Given the description of an element on the screen output the (x, y) to click on. 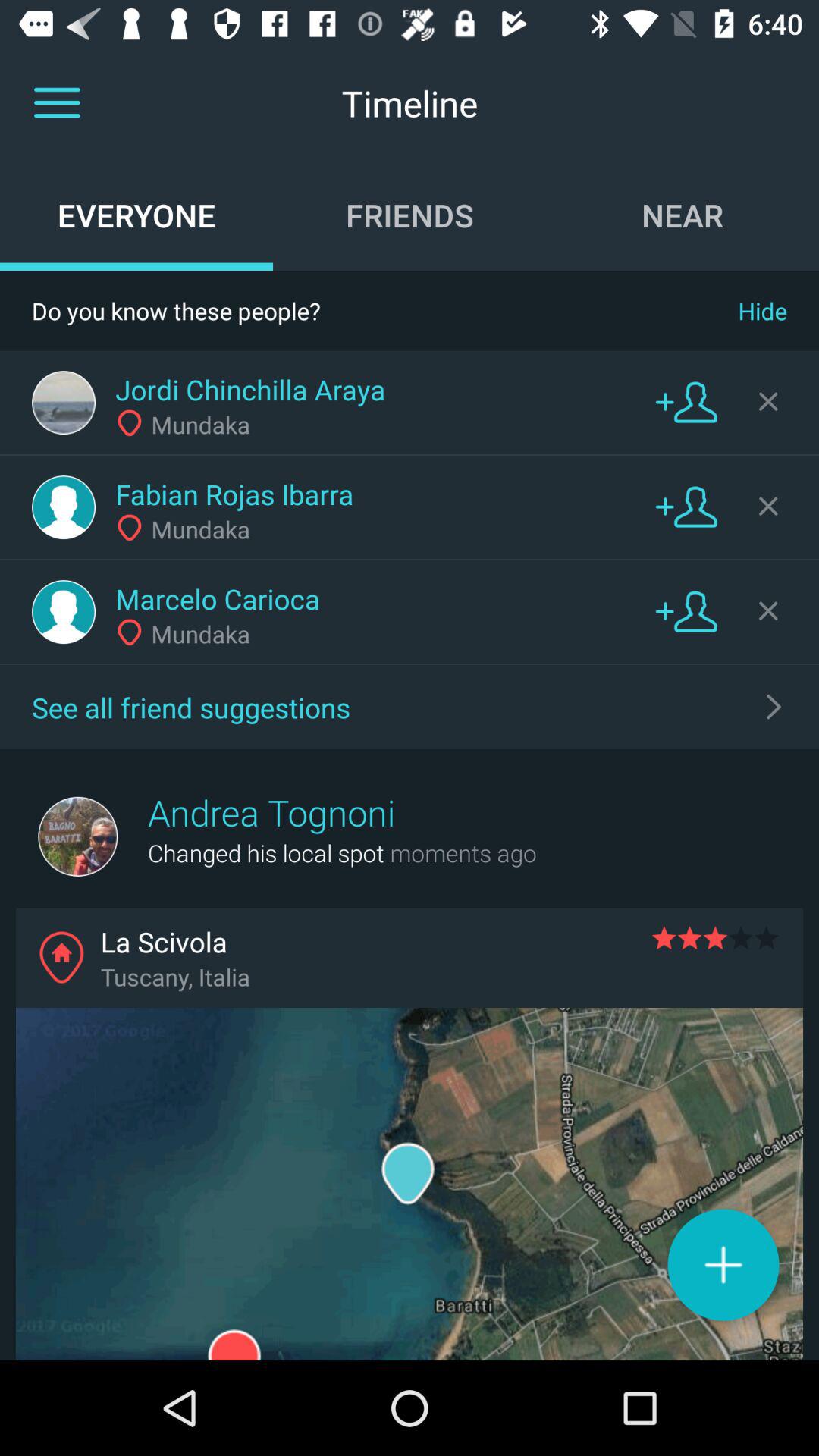
delete person (768, 505)
